Given the description of an element on the screen output the (x, y) to click on. 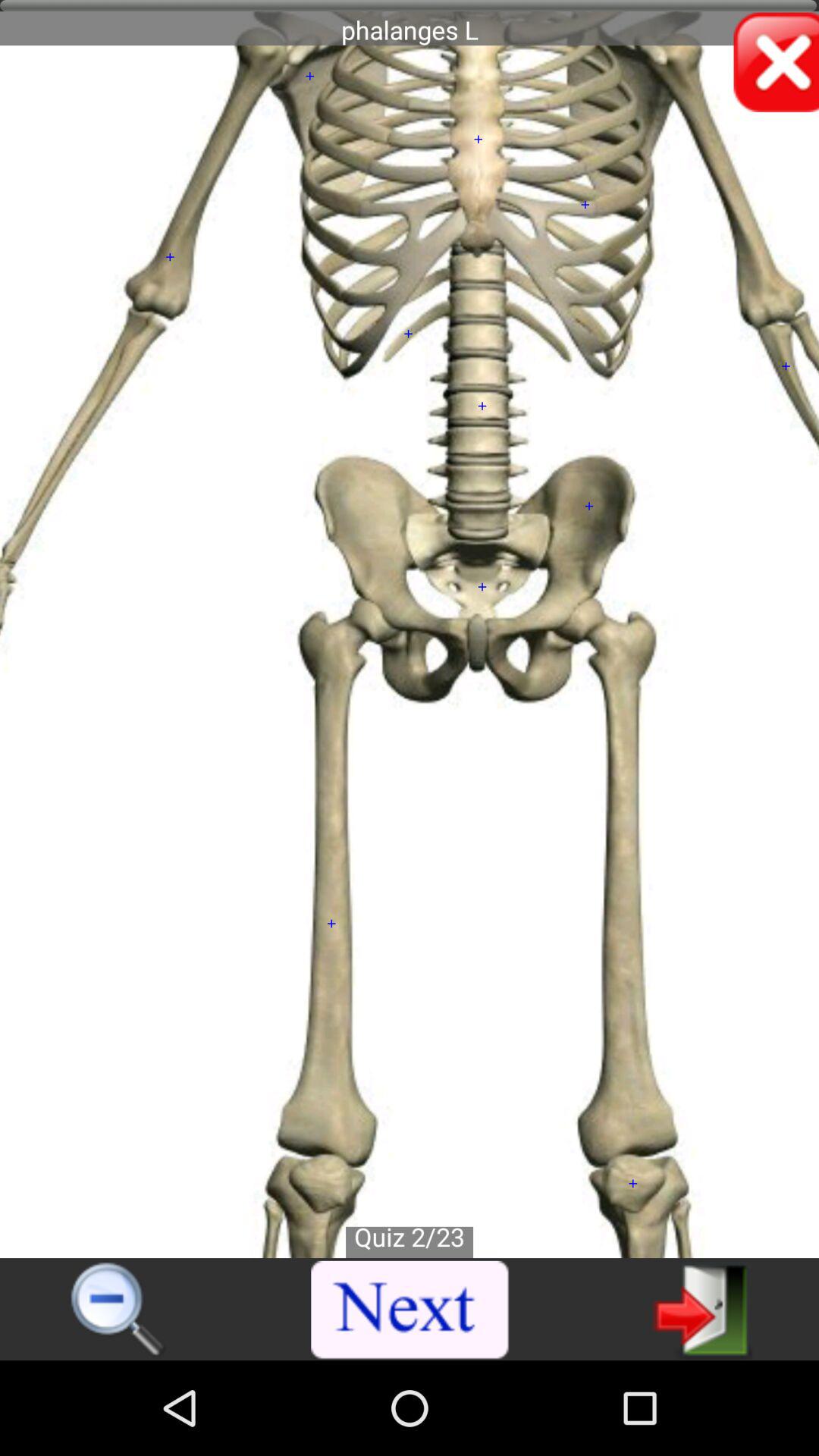
zoom (118, 1310)
